Given the description of an element on the screen output the (x, y) to click on. 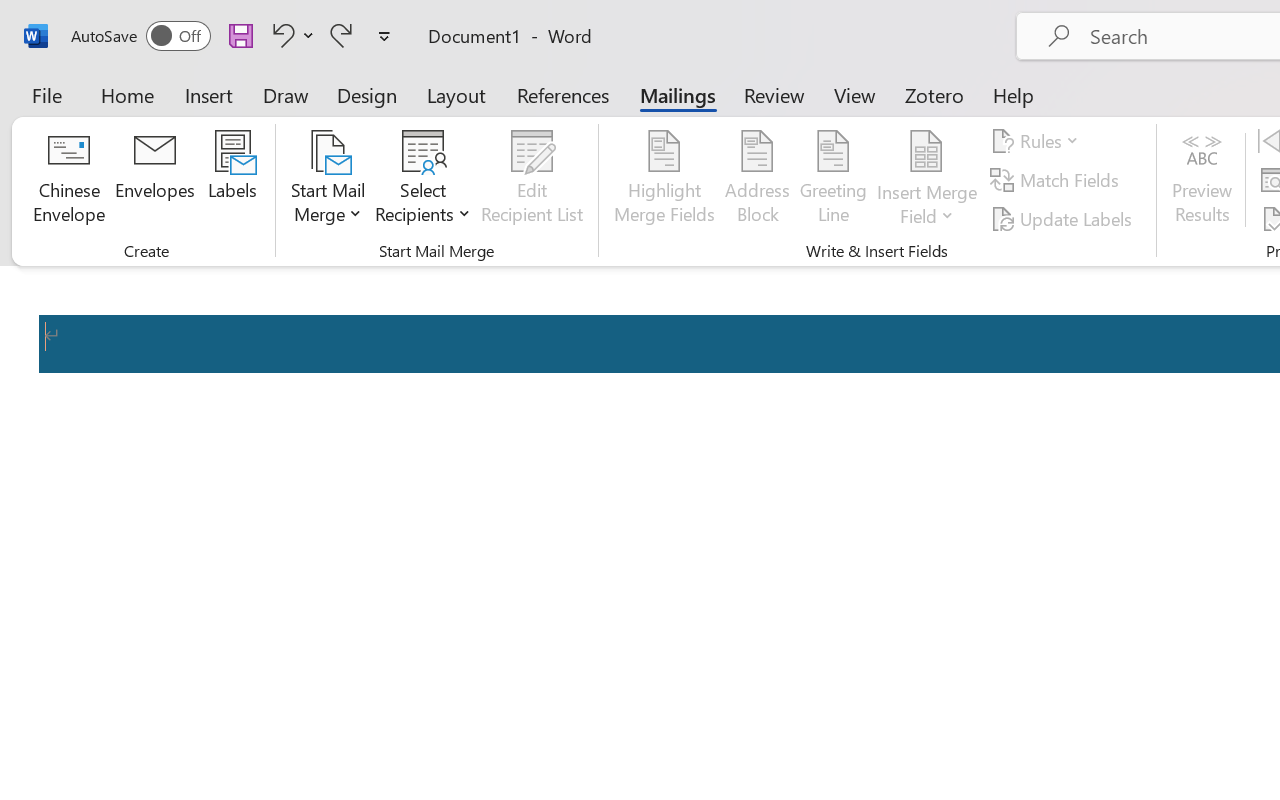
Start Mail Merge (328, 179)
Rules (1037, 141)
Update Labels (1064, 218)
Preview Results (1202, 179)
Undo Apply Quick Style Set (280, 35)
